Given the description of an element on the screen output the (x, y) to click on. 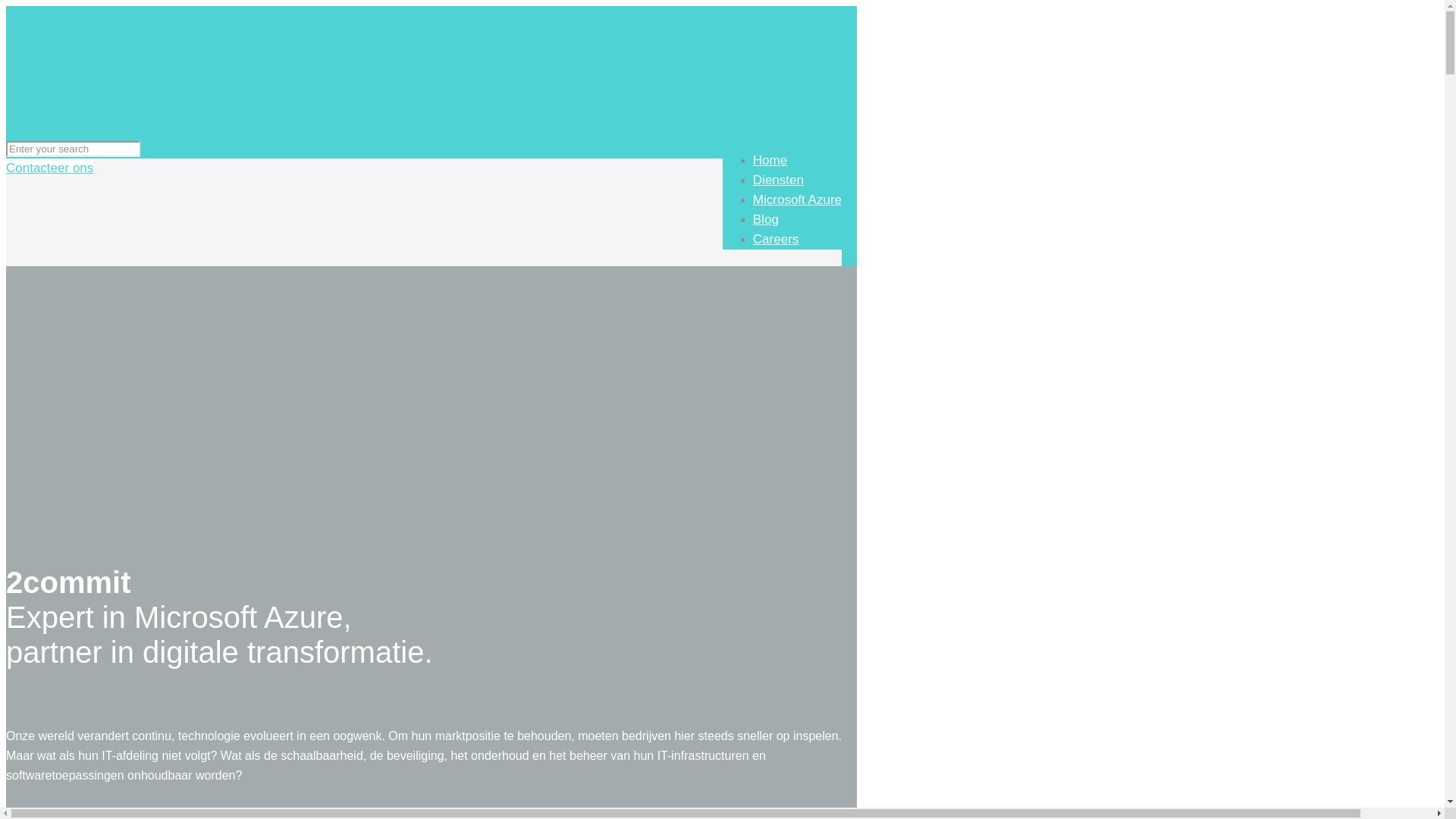
Diensten Element type: text (778, 179)
Contacteer ons Element type: text (49, 167)
Home Element type: text (770, 160)
Careers Element type: text (775, 238)
Blog Element type: text (765, 219)
Microsoft Azure Element type: text (797, 199)
2commit Element type: hover (233, 115)
